Given the description of an element on the screen output the (x, y) to click on. 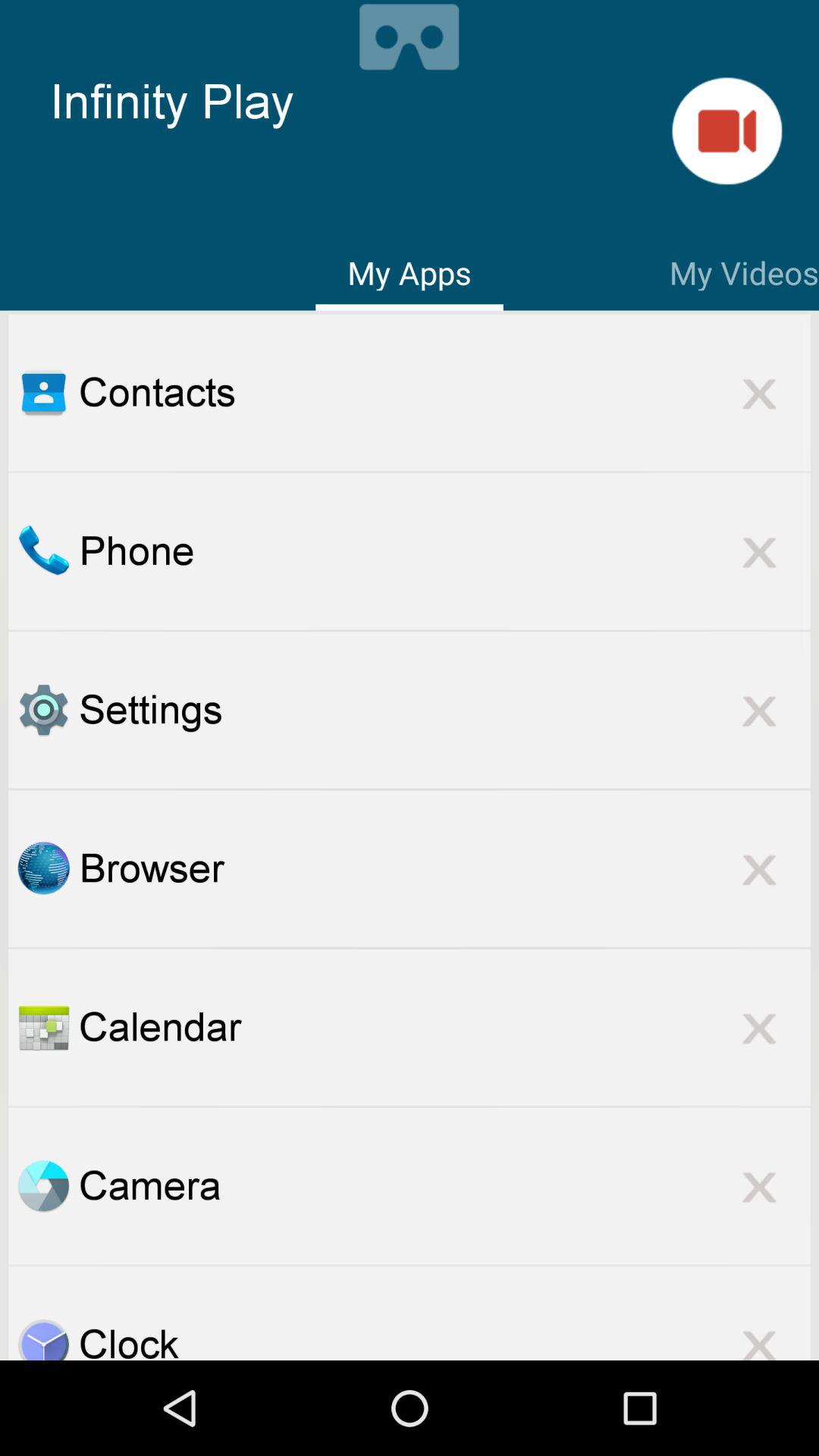
toggle a cancel option (759, 1027)
